Given the description of an element on the screen output the (x, y) to click on. 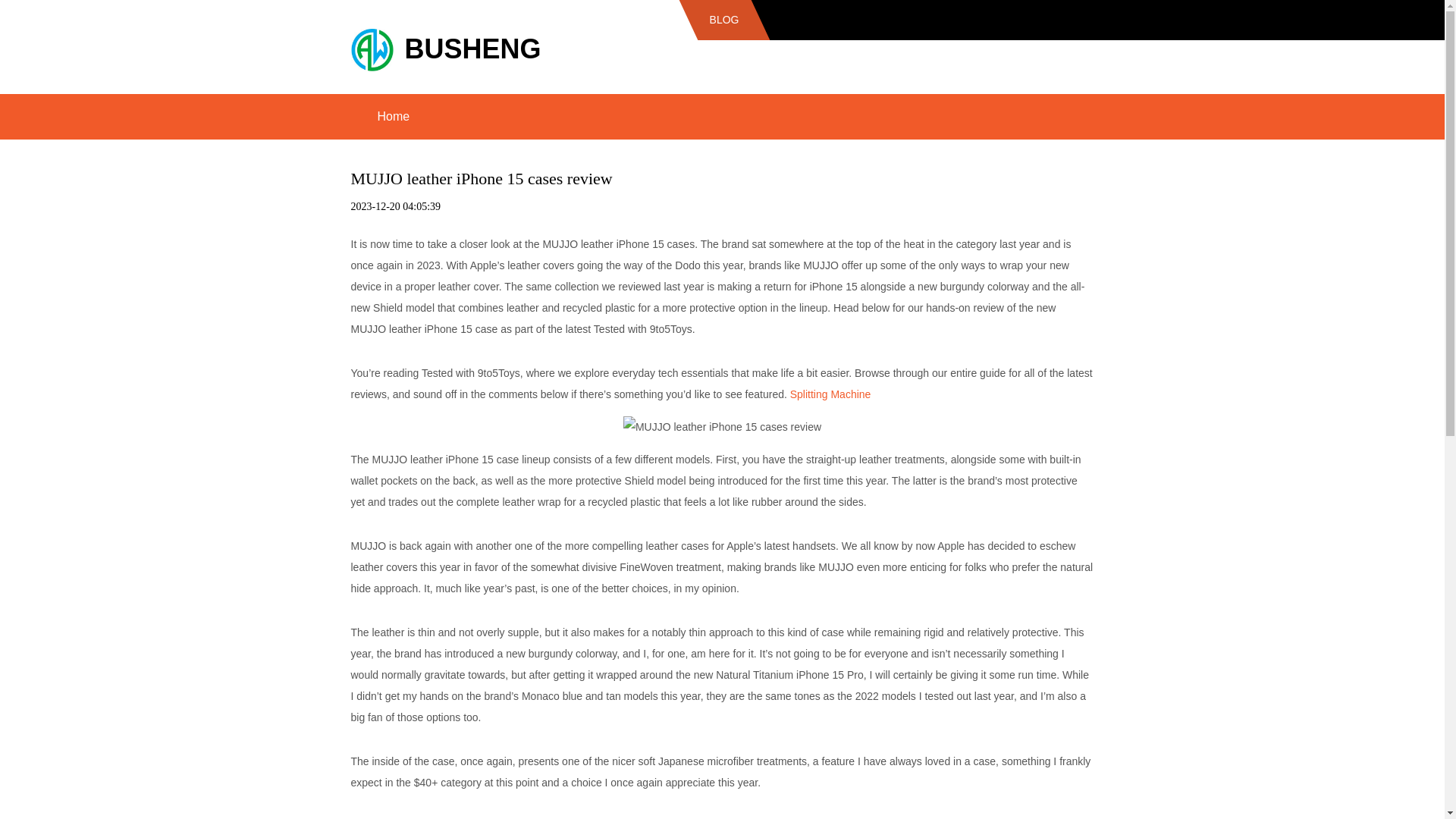
Splitting Machine (830, 394)
Home (392, 116)
